Given the description of an element on the screen output the (x, y) to click on. 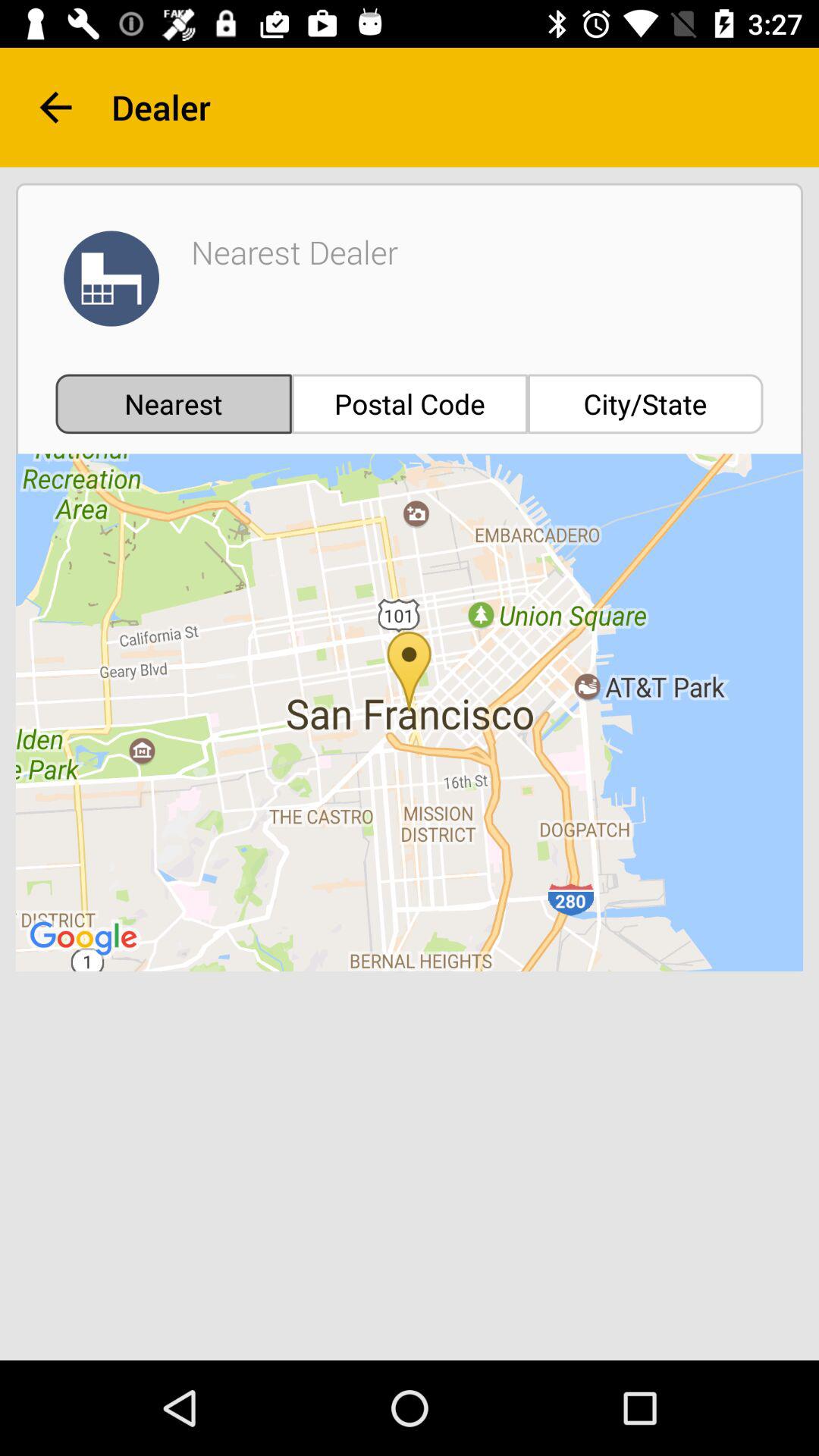
tap the icon below nearest icon (409, 712)
